Given the description of an element on the screen output the (x, y) to click on. 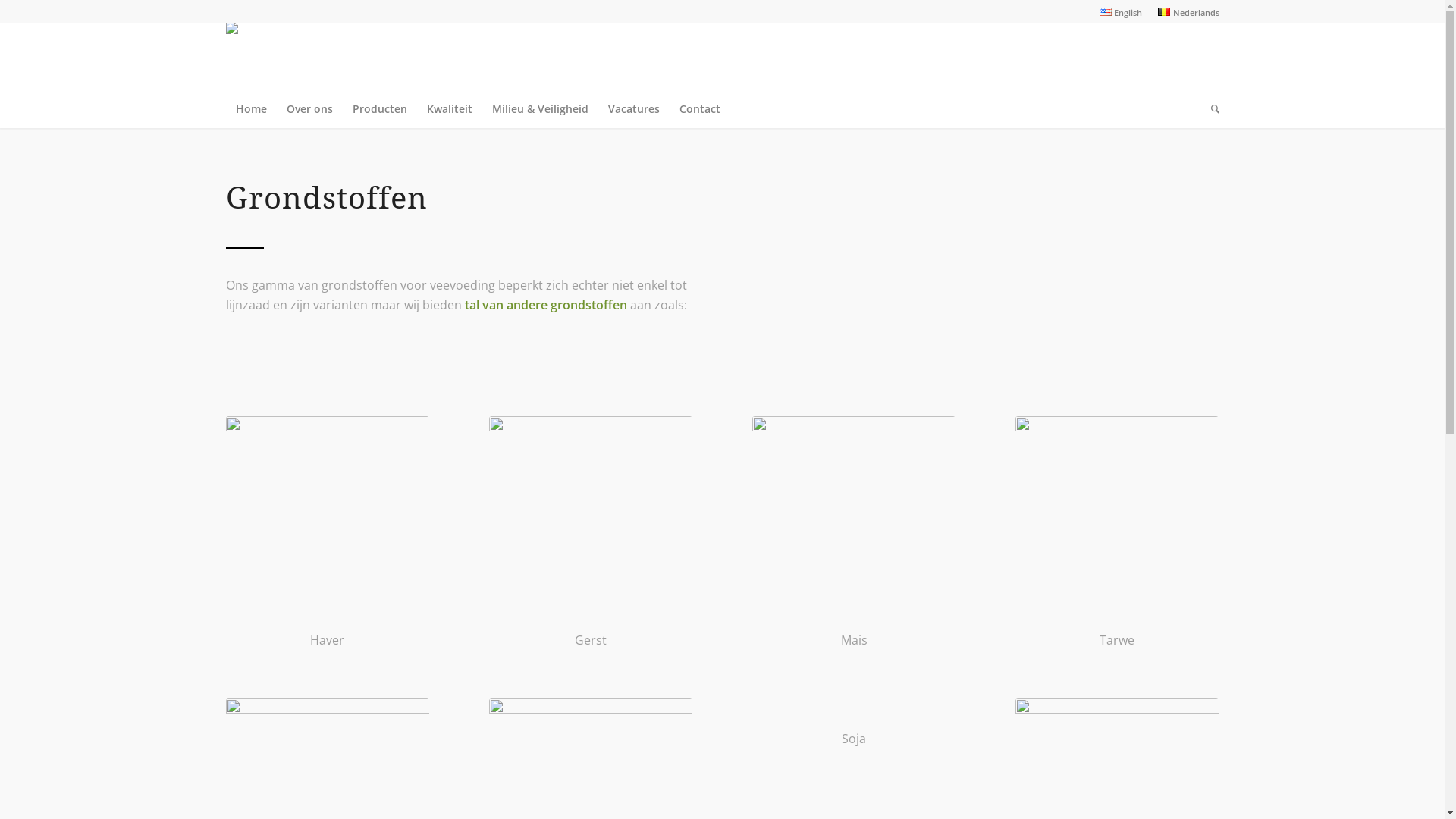
Nederlands Element type: text (1187, 12)
Contact Element type: text (698, 109)
English Element type: text (1120, 12)
Vacatures Element type: text (632, 109)
Home Element type: text (250, 109)
Over ons Element type: text (309, 109)
Milieu & Veiligheid Element type: text (540, 109)
Kwaliteit Element type: text (449, 109)
Producten Element type: text (379, 109)
